Given the description of an element on the screen output the (x, y) to click on. 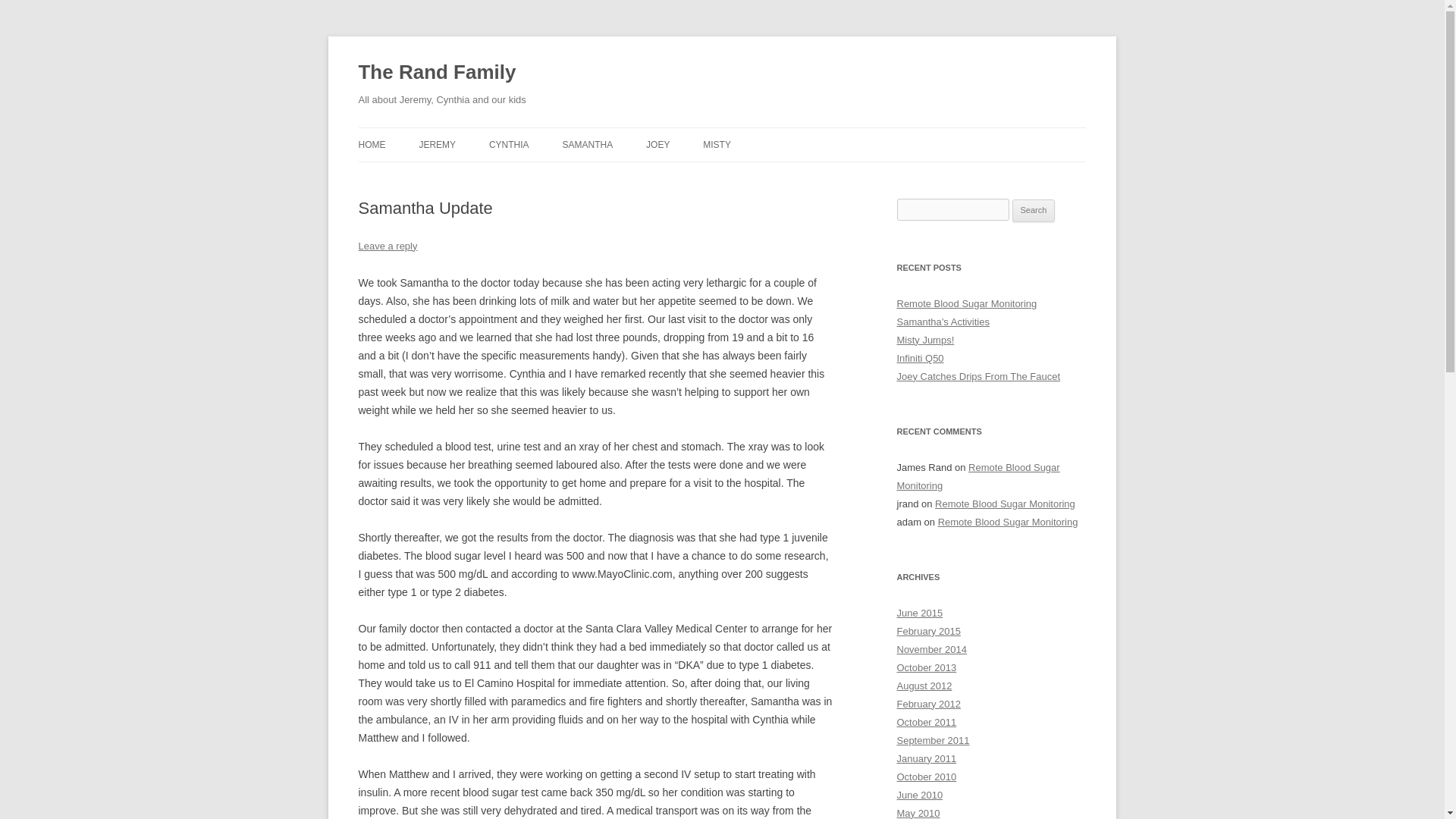
November 2014 (931, 649)
February 2015 (927, 631)
October 2011 (926, 722)
October 2013 (926, 667)
Remote Blood Sugar Monitoring (966, 303)
January 2011 (926, 758)
June 2010 (919, 794)
Search (1033, 210)
CYNTHIA (509, 144)
Search (1033, 210)
